Given the description of an element on the screen output the (x, y) to click on. 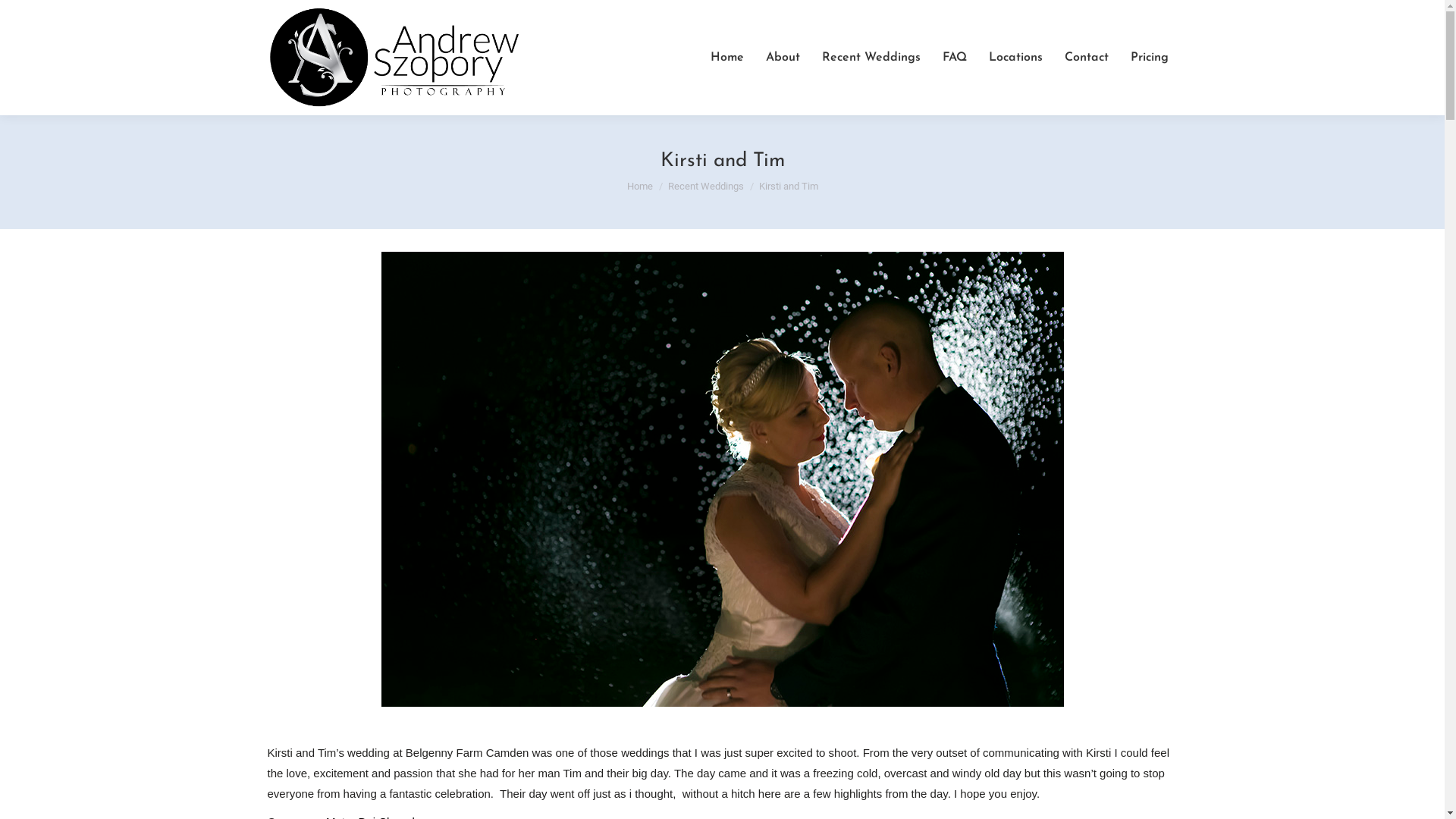
Recent Weddings Element type: text (870, 57)
Home Element type: text (726, 57)
Recent Weddings Element type: text (705, 185)
Home Element type: text (639, 185)
Pricing Element type: text (1148, 57)
Locations Element type: text (1015, 57)
About Element type: text (782, 57)
Kirsti and Tim Element type: hover (721, 478)
FAQ Element type: text (953, 57)
Post Comment Element type: text (50, 16)
Contact Element type: text (1086, 57)
